Given the description of an element on the screen output the (x, y) to click on. 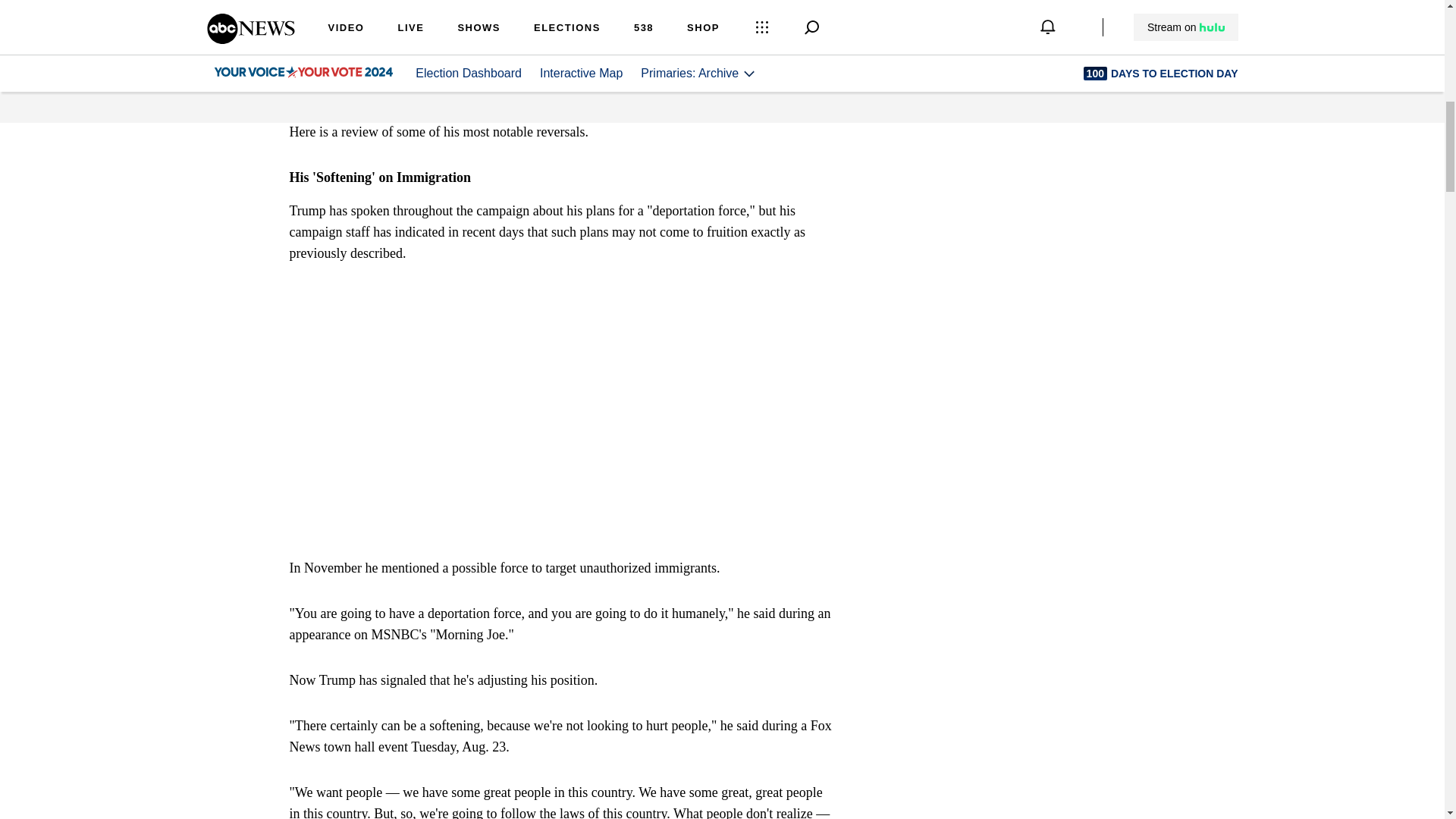
abortion (797, 43)
assault rifles (346, 64)
